Given the description of an element on the screen output the (x, y) to click on. 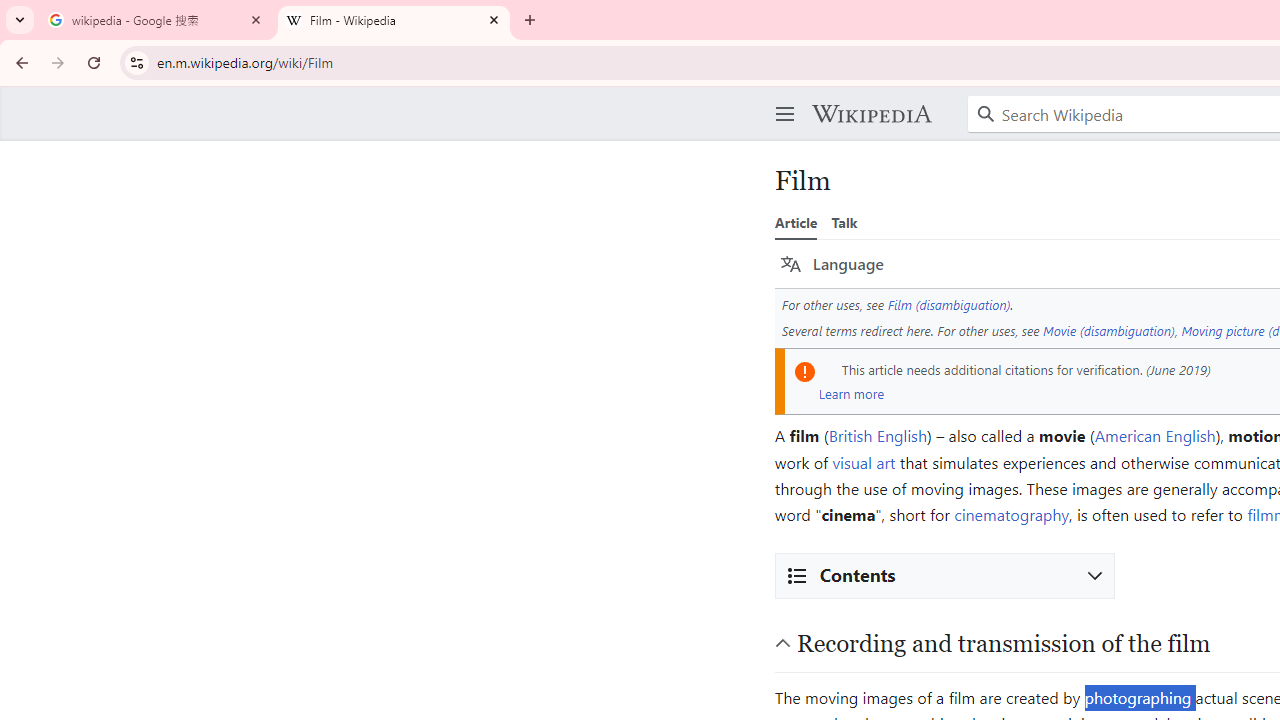
British English (877, 435)
Talk (843, 222)
Wikipedia (871, 114)
verification (1108, 369)
American English (1155, 435)
visual art (864, 461)
